Given the description of an element on the screen output the (x, y) to click on. 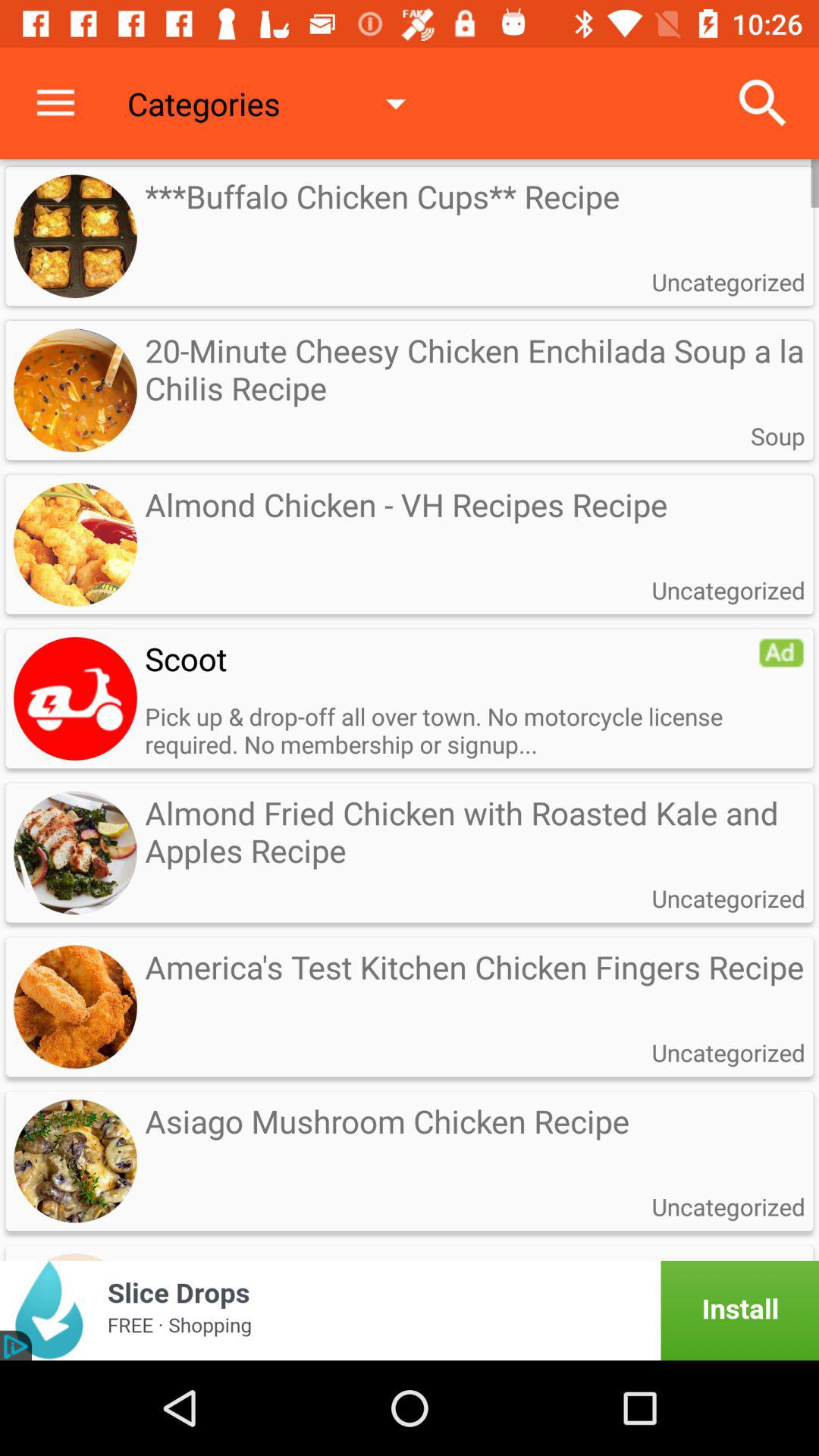
click on category (75, 698)
